Given the description of an element on the screen output the (x, y) to click on. 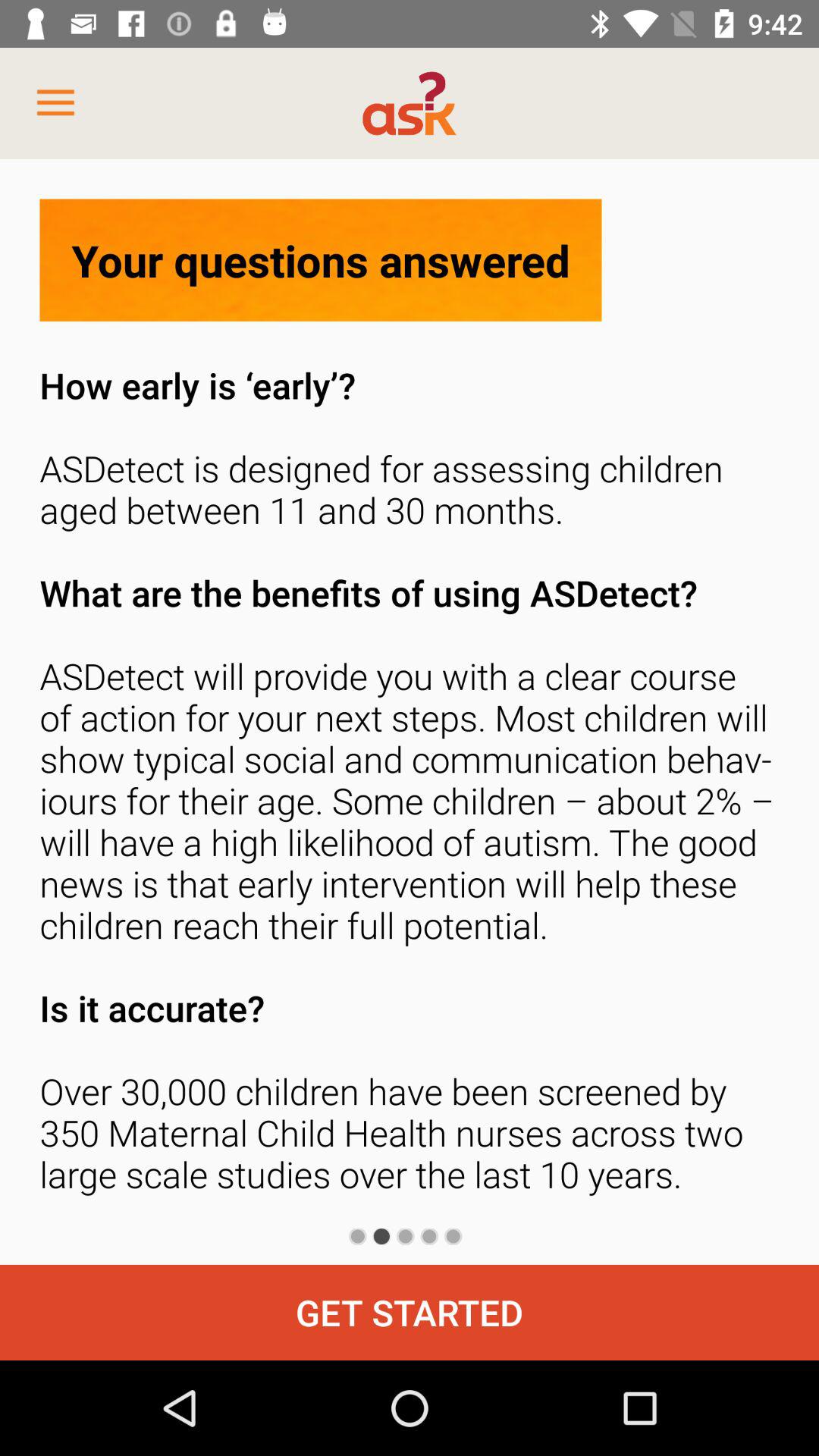
swipe to the how early is (409, 784)
